Given the description of an element on the screen output the (x, y) to click on. 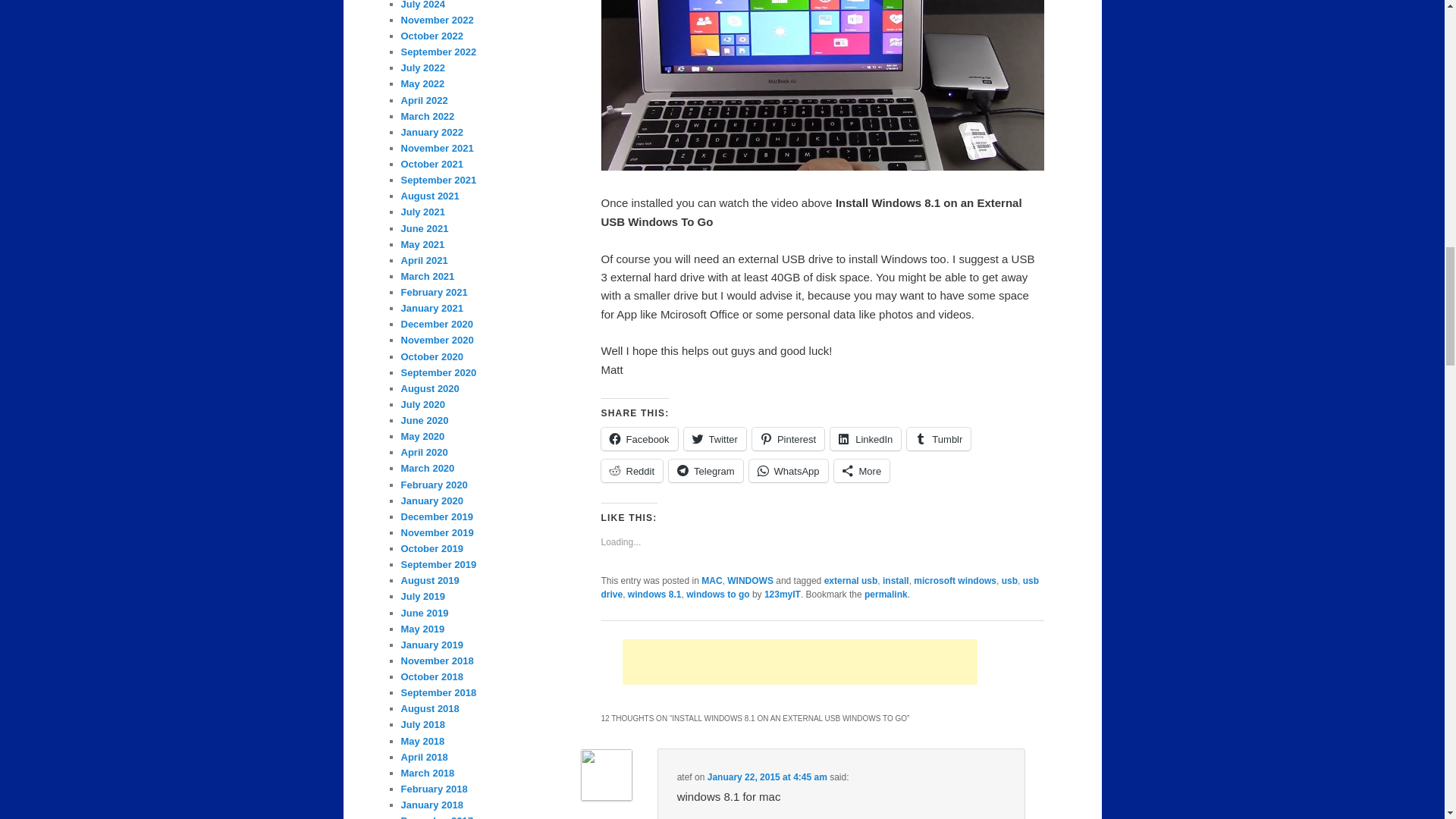
Click to share on Pinterest (788, 438)
Click to share on Twitter (714, 438)
Click to share on LinkedIn (865, 438)
Click to share on Facebook (638, 438)
